Given the description of an element on the screen output the (x, y) to click on. 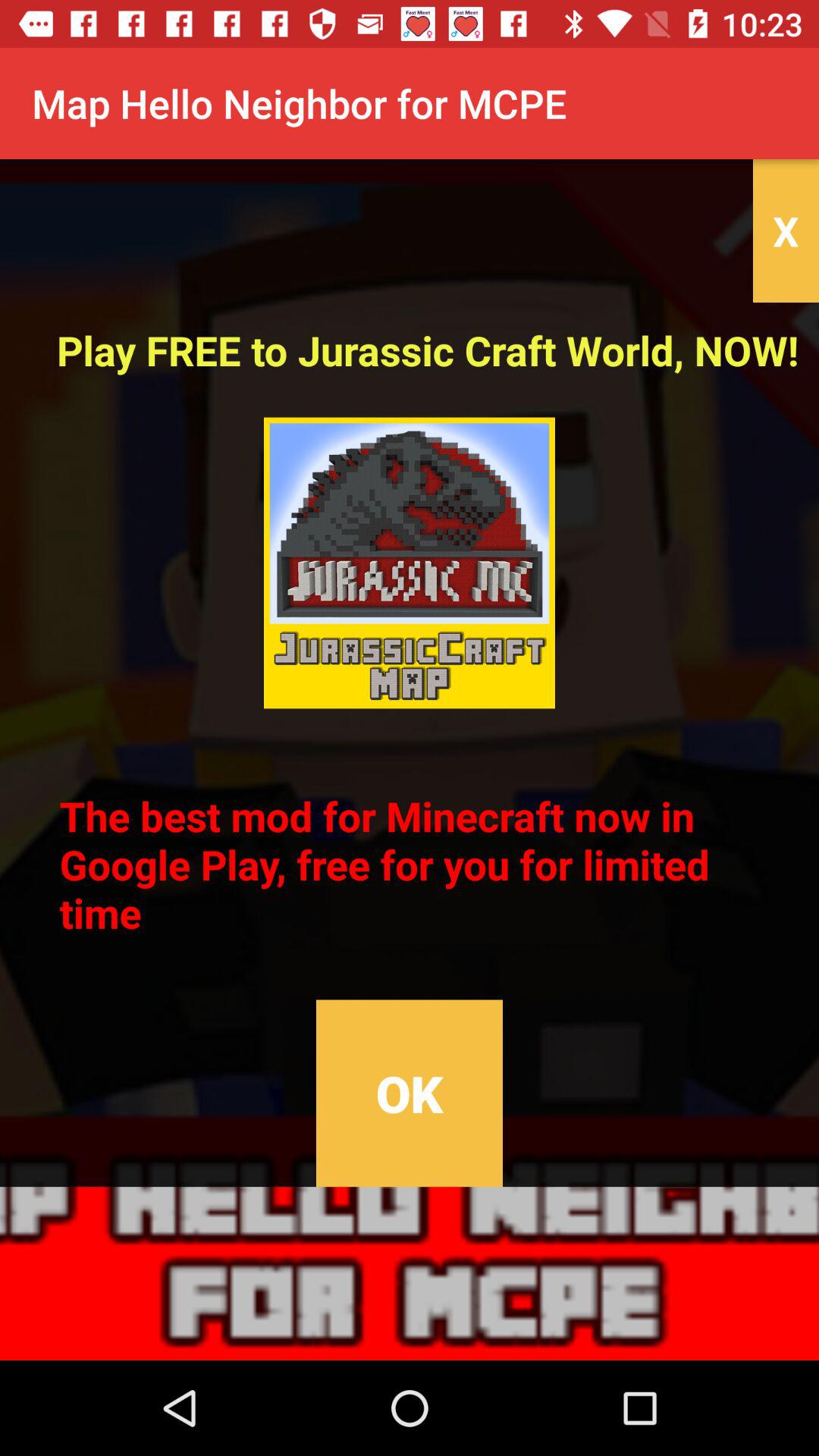
click x icon (786, 230)
